Given the description of an element on the screen output the (x, y) to click on. 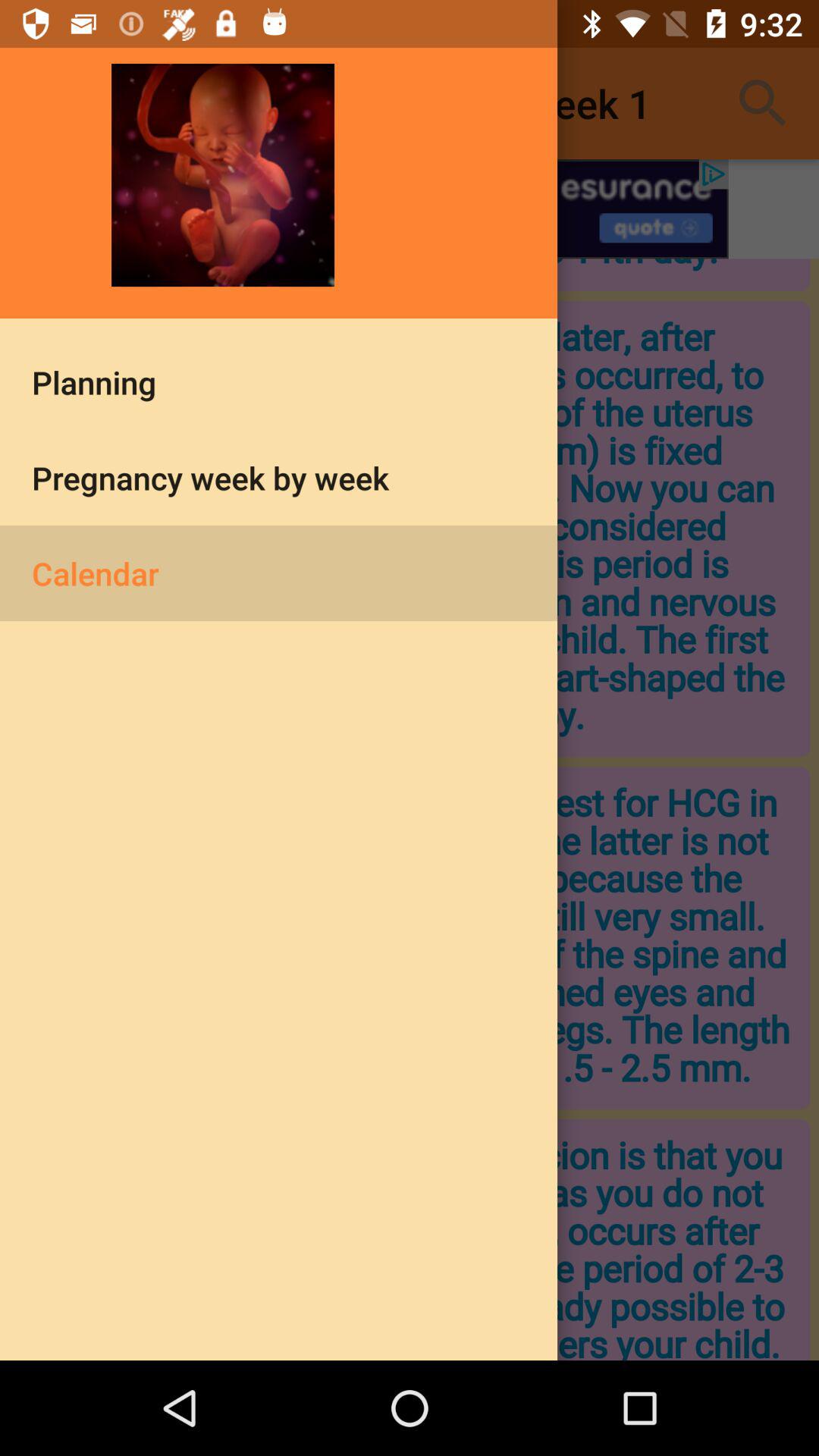
advertiesment link (409, 208)
